Given the description of an element on the screen output the (x, y) to click on. 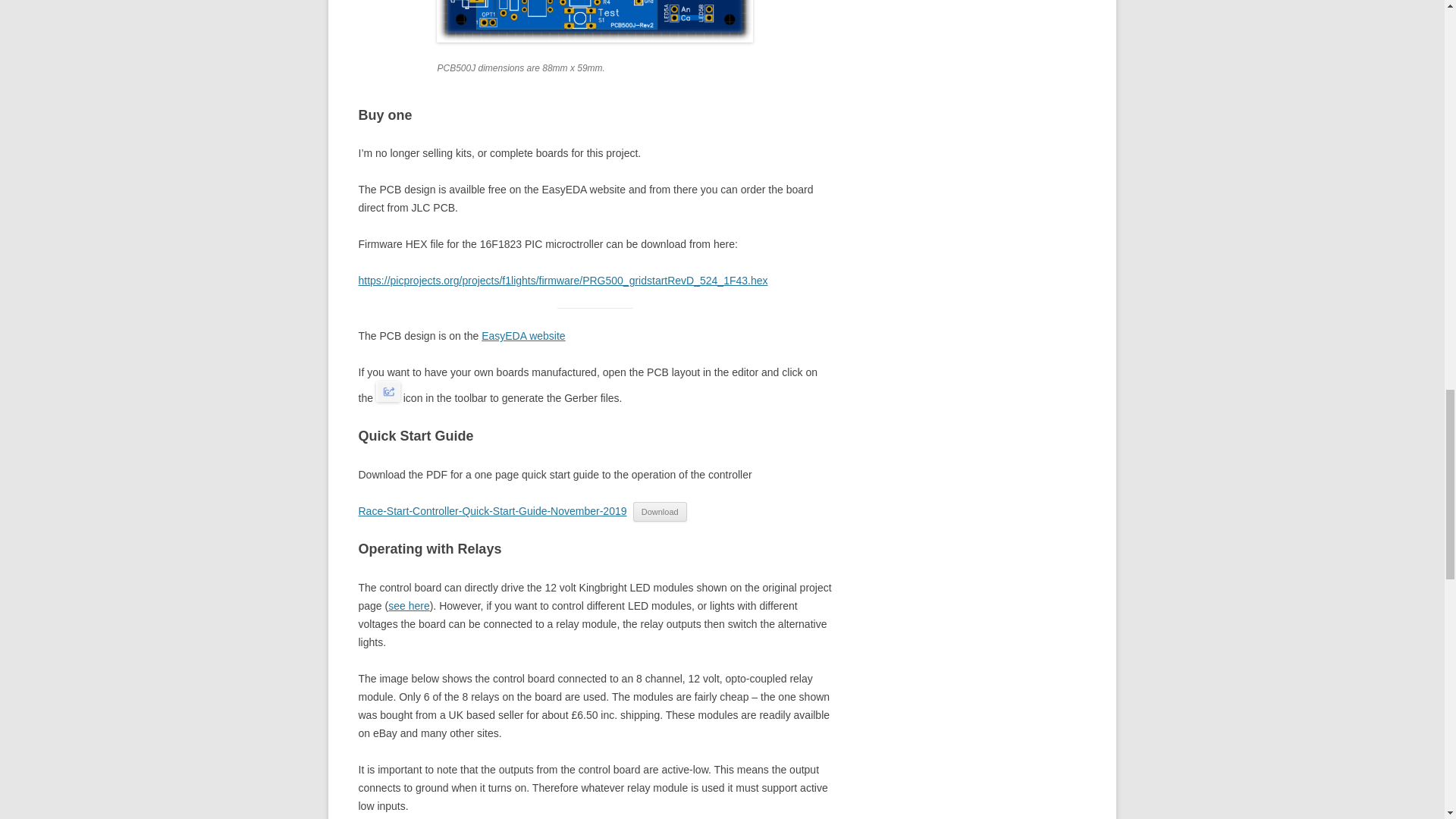
EasyEDA website (523, 336)
see here (408, 605)
Download (660, 511)
Race-Start-Controller-Quick-Start-Guide-November-2019 (492, 510)
